Given the description of an element on the screen output the (x, y) to click on. 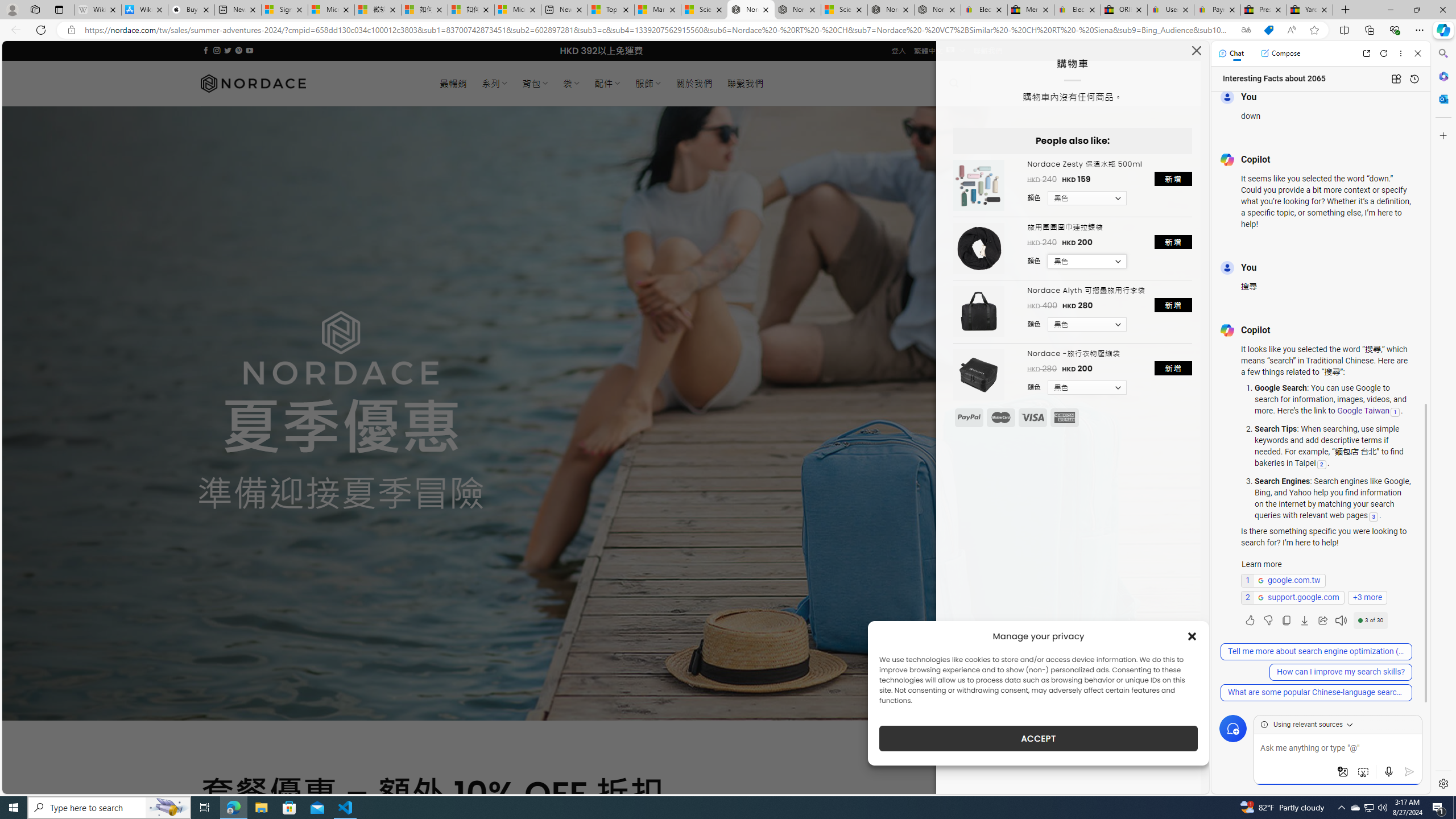
Sign in to your Microsoft account (284, 9)
Follow on YouTube (249, 50)
Microsoft Services Agreement (330, 9)
User Privacy Notice | eBay (1170, 9)
  0   (992, 83)
